Given the description of an element on the screen output the (x, y) to click on. 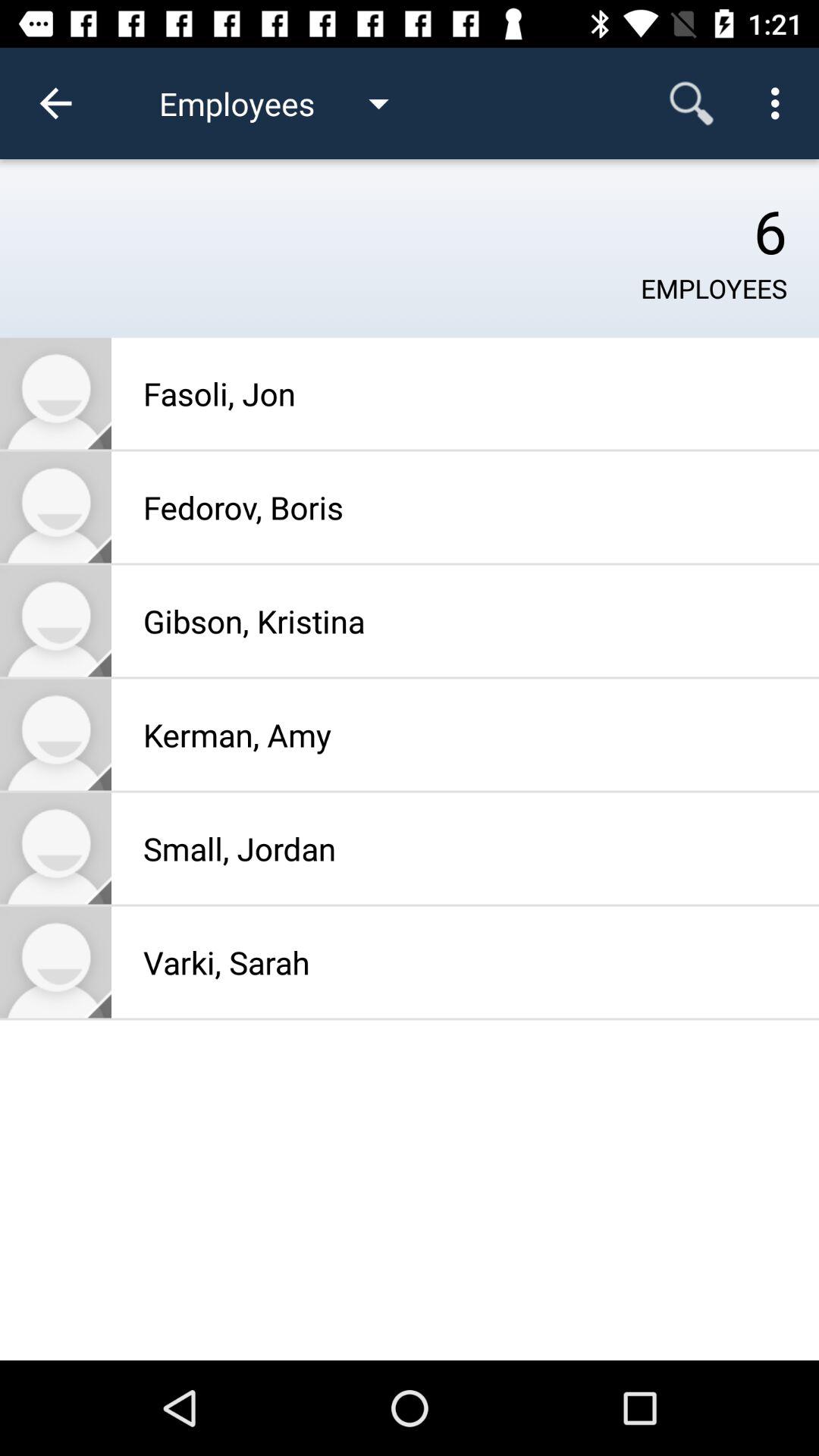
contact page (55, 620)
